Given the description of an element on the screen output the (x, y) to click on. 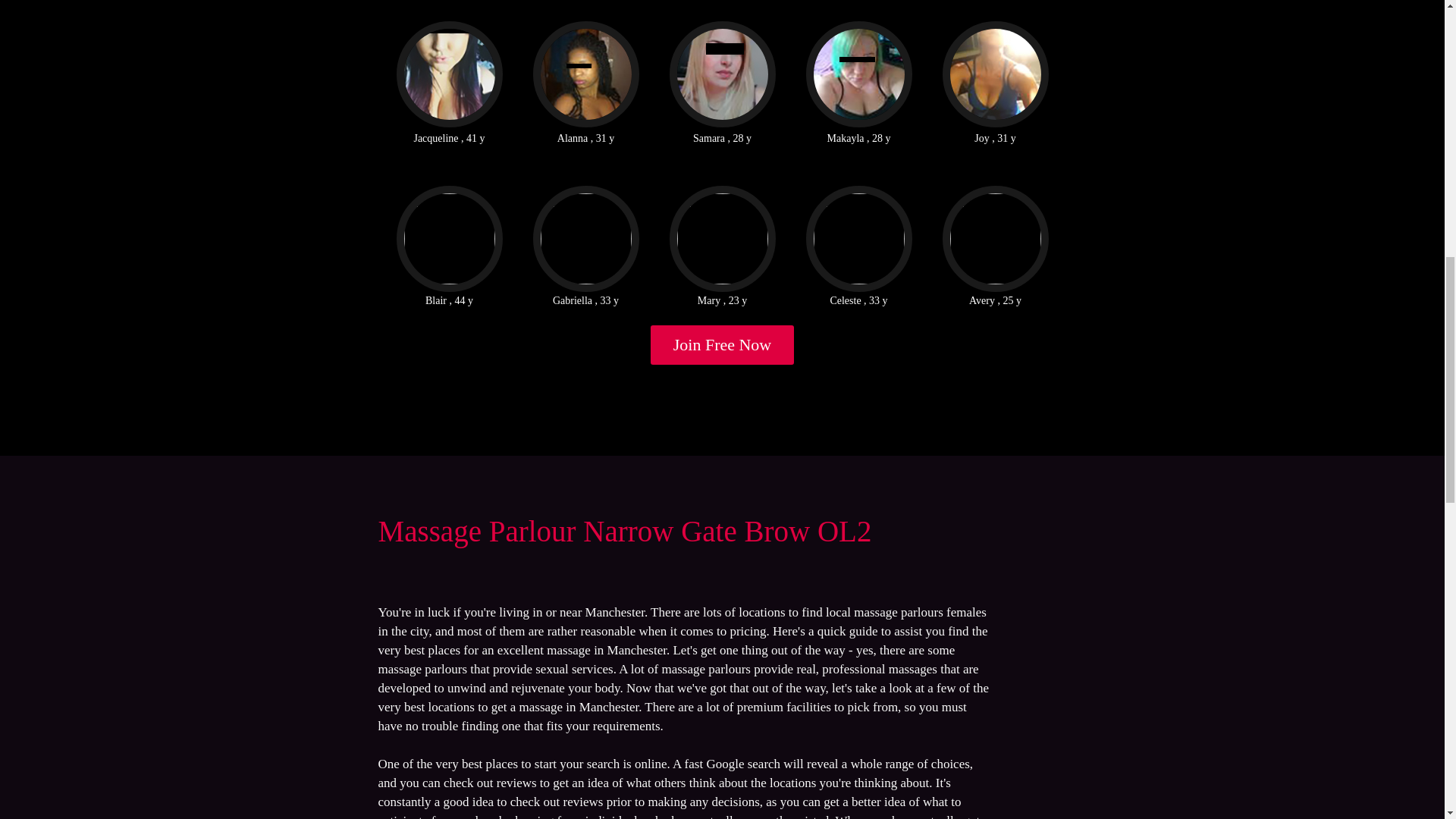
Join (722, 344)
Join Free Now (722, 344)
Massage Parlour Narrow Gate Brow OL2 (623, 531)
